Given the description of an element on the screen output the (x, y) to click on. 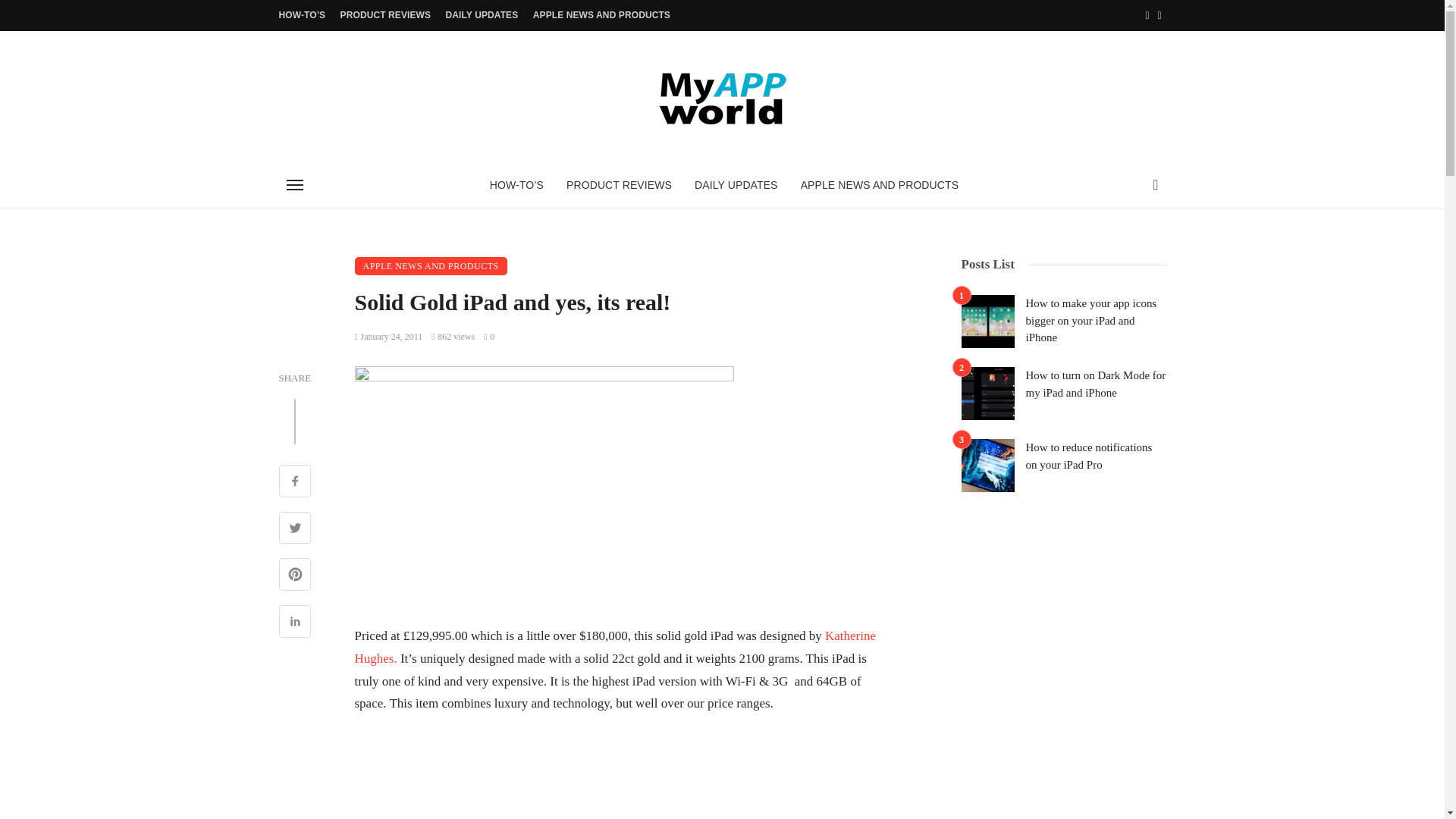
PRODUCT REVIEWS (618, 185)
solid-gold-ipad (544, 487)
APPLE NEWS AND PRODUCTS (430, 266)
PRODUCT REVIEWS (386, 14)
0 (489, 336)
Katherine Hughes. (615, 646)
Share on Pinterest (295, 575)
Share on Twitter (295, 529)
APPLE NEWS AND PRODUCTS (602, 14)
APPLE NEWS AND PRODUCTS (879, 185)
0 Comments (489, 336)
Share on Linkedin (295, 623)
January 24, 2011 at 1:00 am (389, 336)
DAILY UPDATES (481, 14)
Share on Facebook (295, 483)
